Given the description of an element on the screen output the (x, y) to click on. 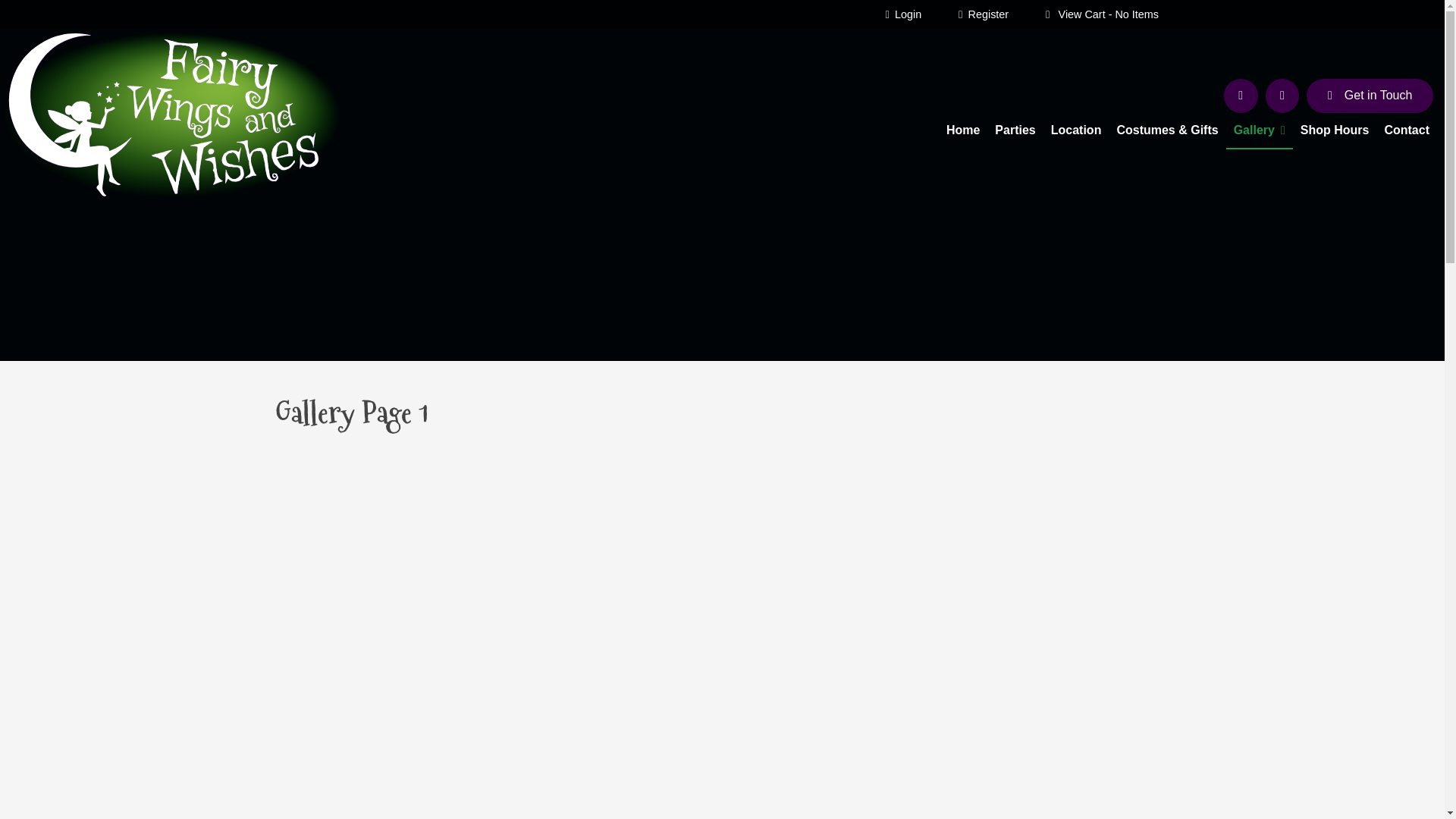
Location Element type: text (1076, 130)
Costumes & Gifts Element type: text (1166, 130)
View Cart - No Items Element type: text (1102, 14)
Parties Element type: text (1014, 130)
Shop Hours Element type: text (1334, 130)
Get in Touch Element type: text (1369, 95)
Contact Element type: text (1406, 130)
Gallery Element type: text (1259, 130)
Home Element type: text (962, 130)
